Given the description of an element on the screen output the (x, y) to click on. 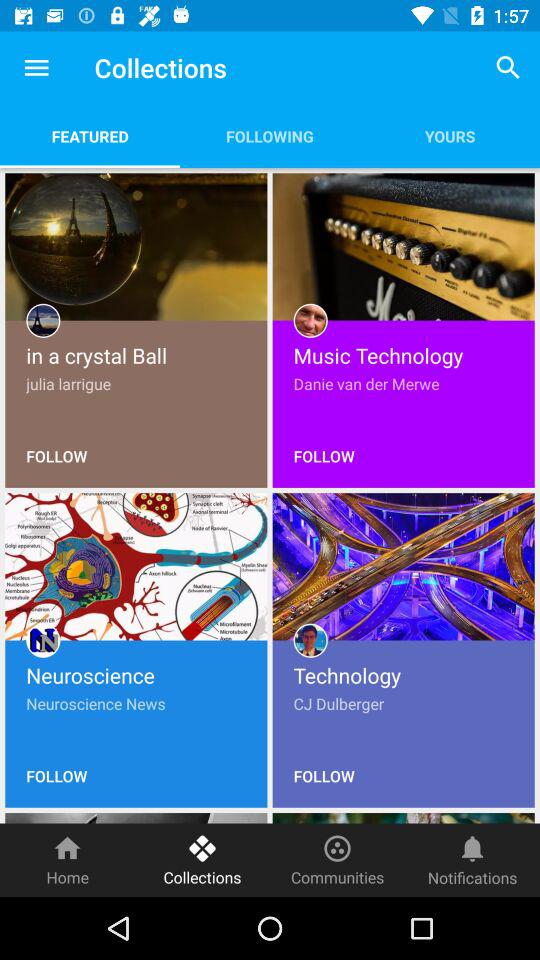
turn on communities item (337, 859)
